Given the description of an element on the screen output the (x, y) to click on. 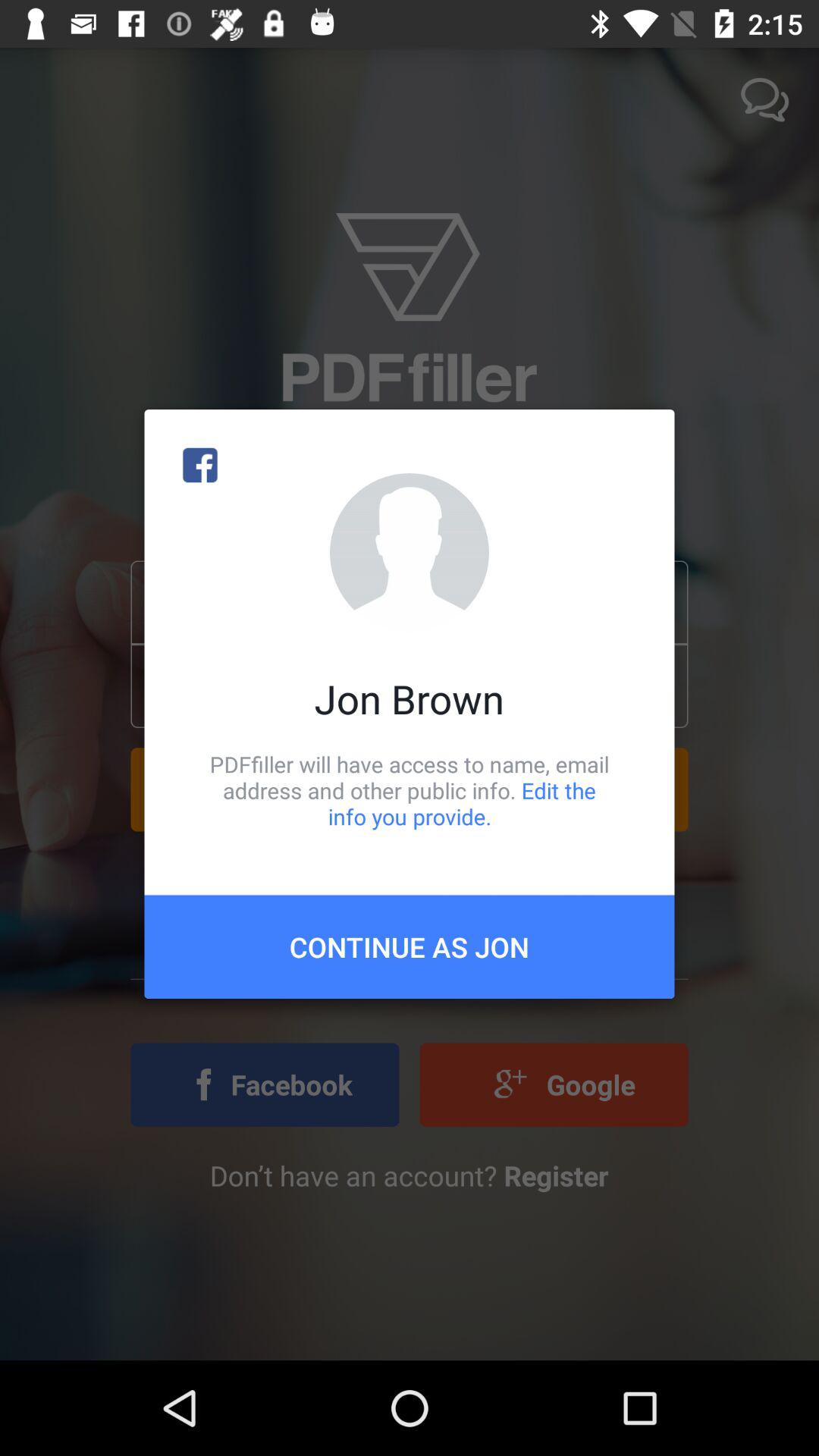
choose the icon above continue as jon item (409, 790)
